Given the description of an element on the screen output the (x, y) to click on. 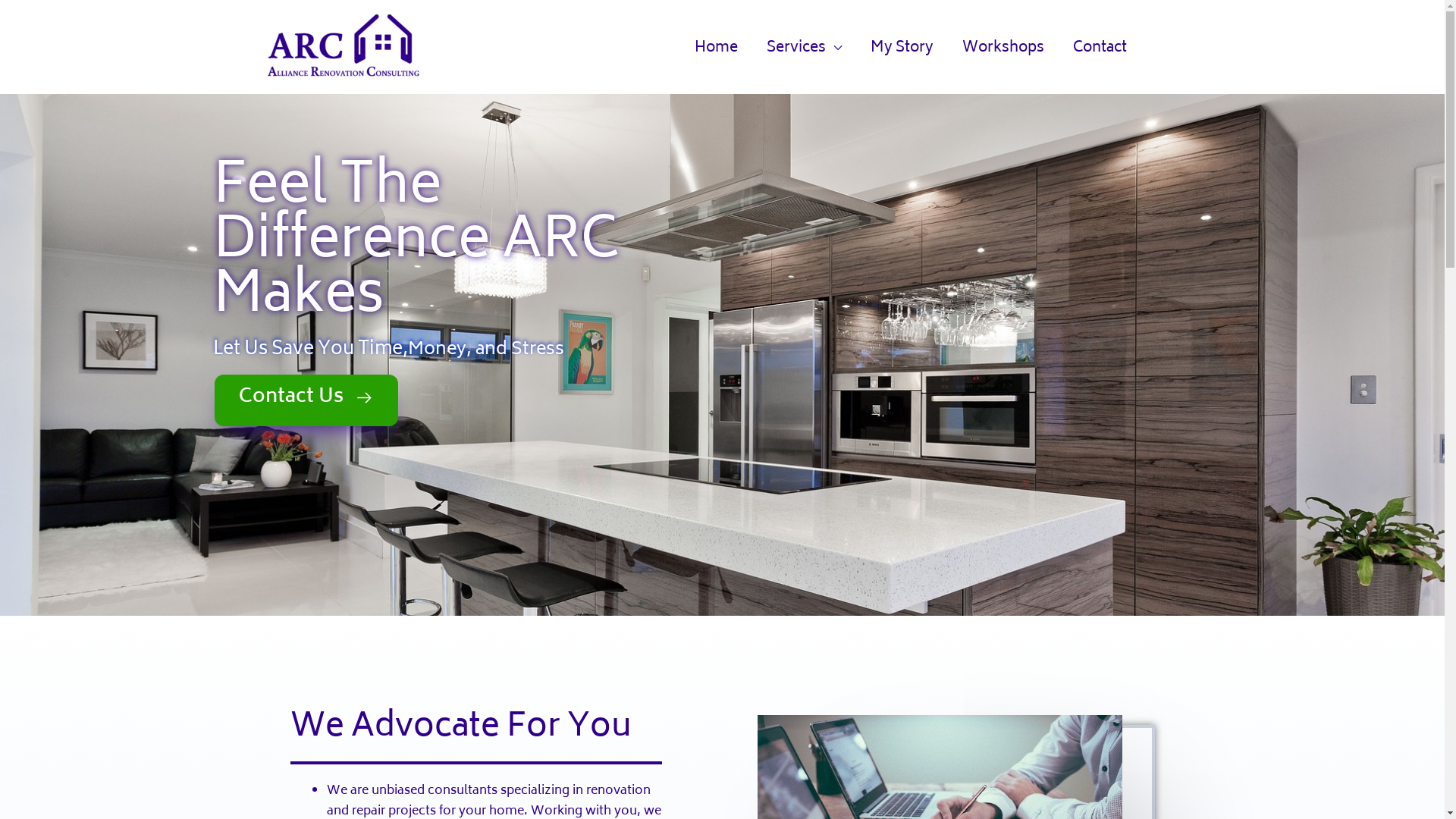
Contact Element type: text (1099, 48)
Services Element type: text (804, 48)
Workshops Element type: text (1002, 48)
Home Element type: text (716, 48)
My Story Element type: text (901, 48)
Contact Us Element type: text (305, 400)
